Given the description of an element on the screen output the (x, y) to click on. 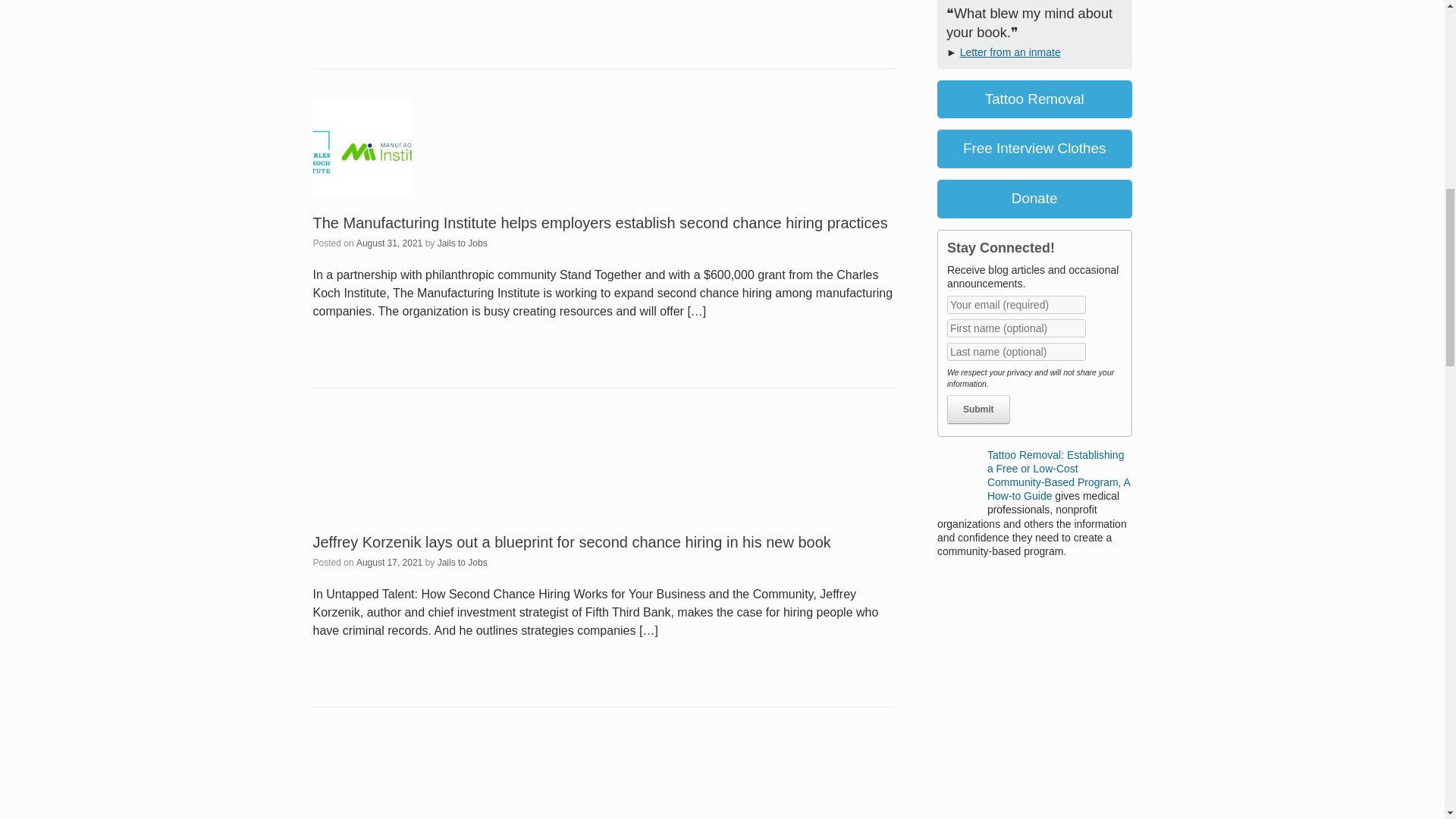
Submit (978, 409)
1:00 am (389, 561)
View all posts by Jails to Jobs (462, 243)
1:00 am (389, 243)
View all posts by Jails to Jobs (462, 561)
